Given the description of an element on the screen output the (x, y) to click on. 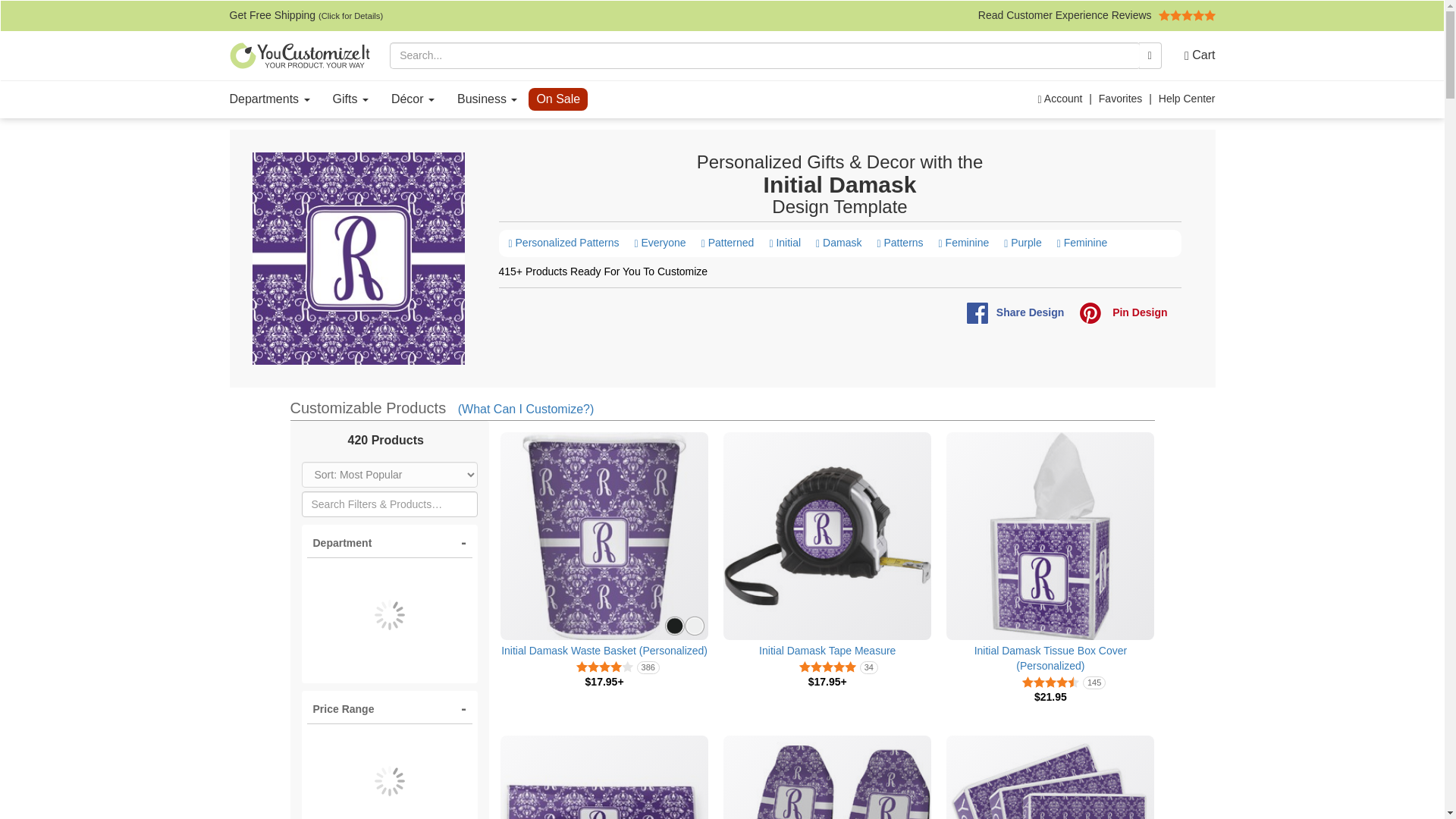
Gifts (350, 99)
Departments (269, 99)
Business (486, 99)
Read Customer Experience Reviews (1096, 15)
Cart (1194, 55)
